Given the description of an element on the screen output the (x, y) to click on. 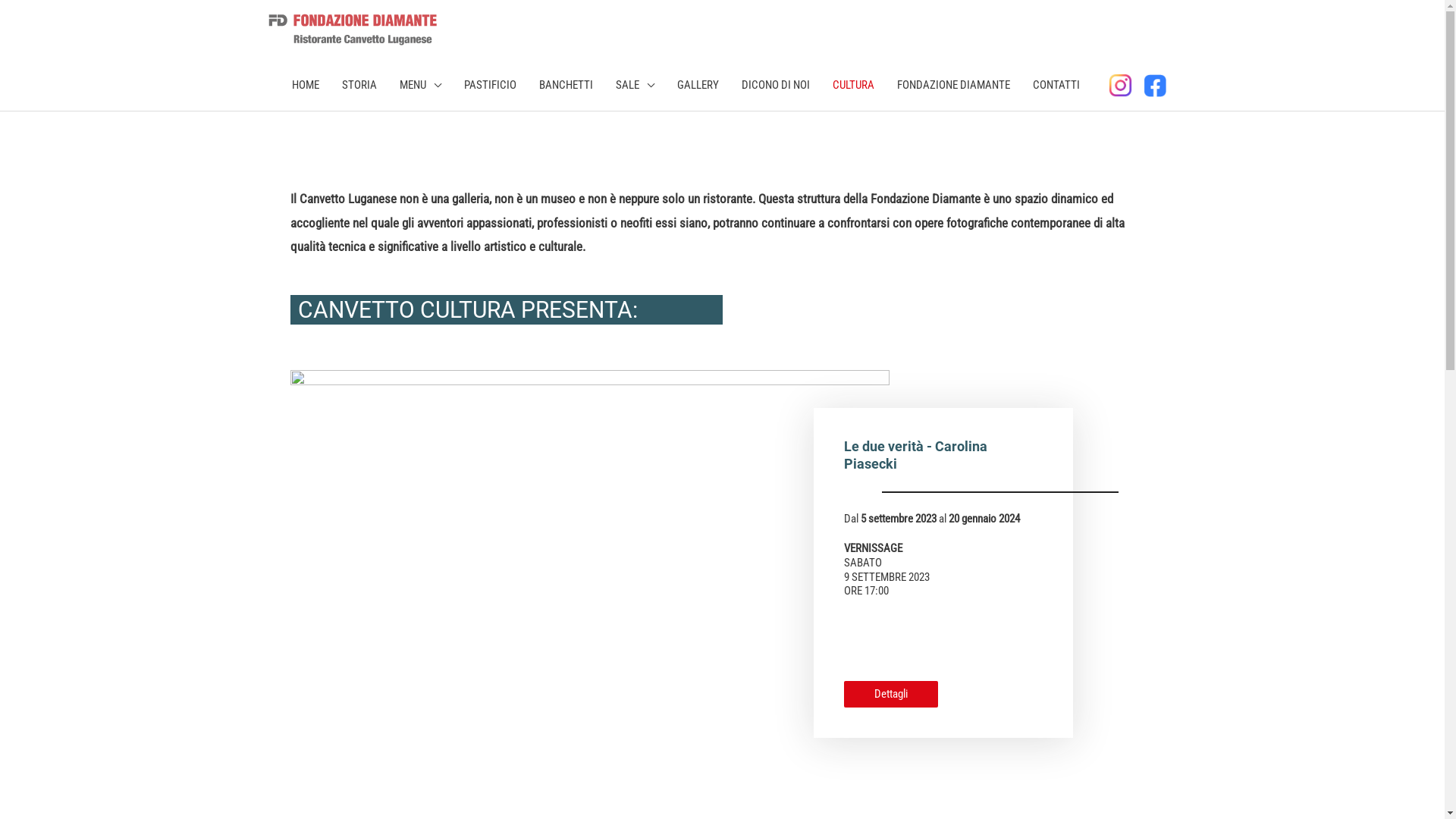
DICONO DI NOI Element type: text (775, 84)
STORIA Element type: text (359, 84)
GALLERY Element type: text (697, 84)
Dettagli Element type: text (891, 693)
CULTURA Element type: text (853, 84)
HOME Element type: text (305, 84)
SALE Element type: text (634, 84)
BANCHETTI Element type: text (565, 84)
FONDAZIONE DIAMANTE Element type: text (953, 84)
MENU Element type: text (420, 84)
CONTATTI Element type: text (1056, 84)
PASTIFICIO Element type: text (489, 84)
